Given the description of an element on the screen output the (x, y) to click on. 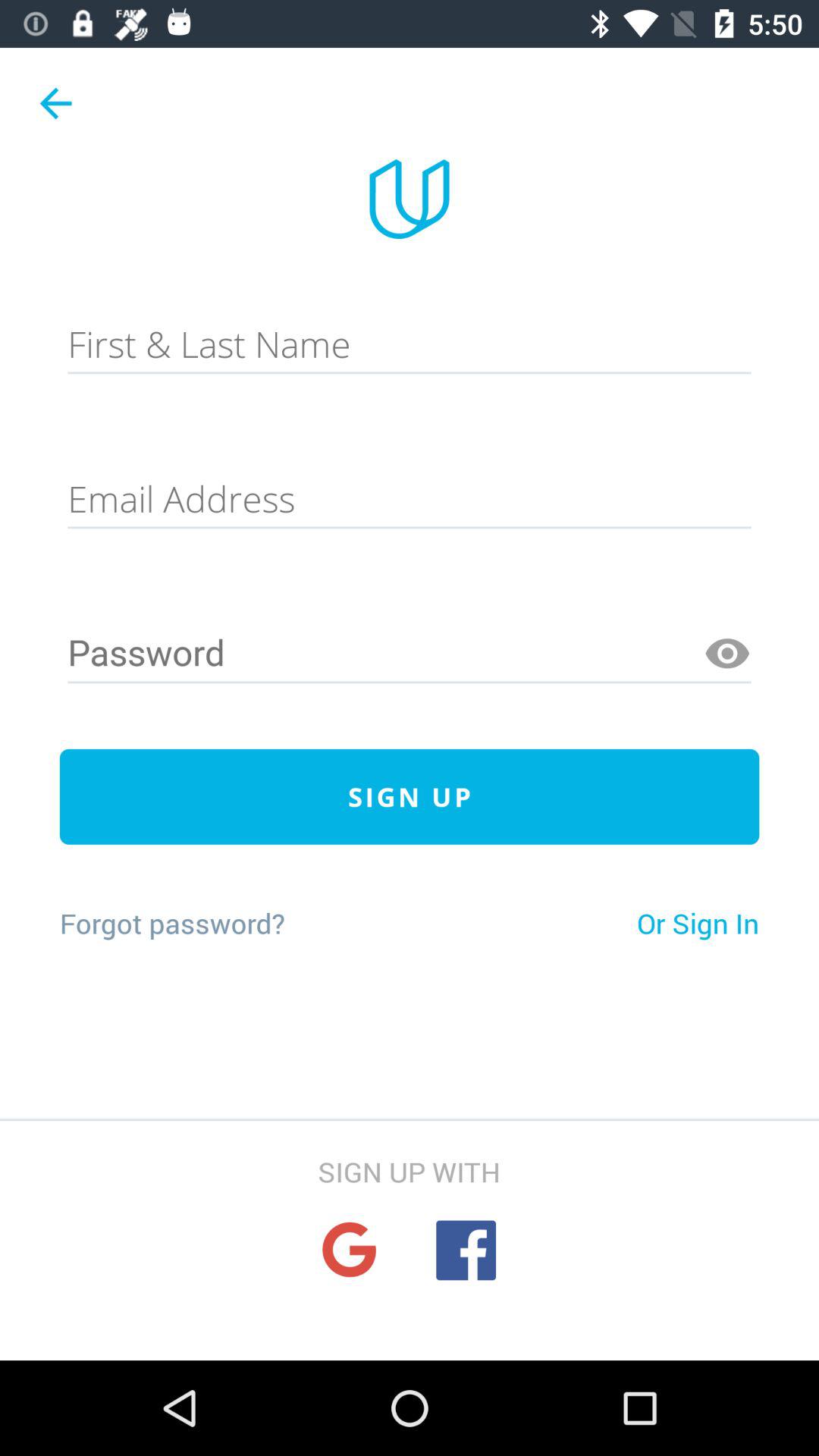
choose the item to the left of the or sign in item (171, 922)
